Given the description of an element on the screen output the (x, y) to click on. 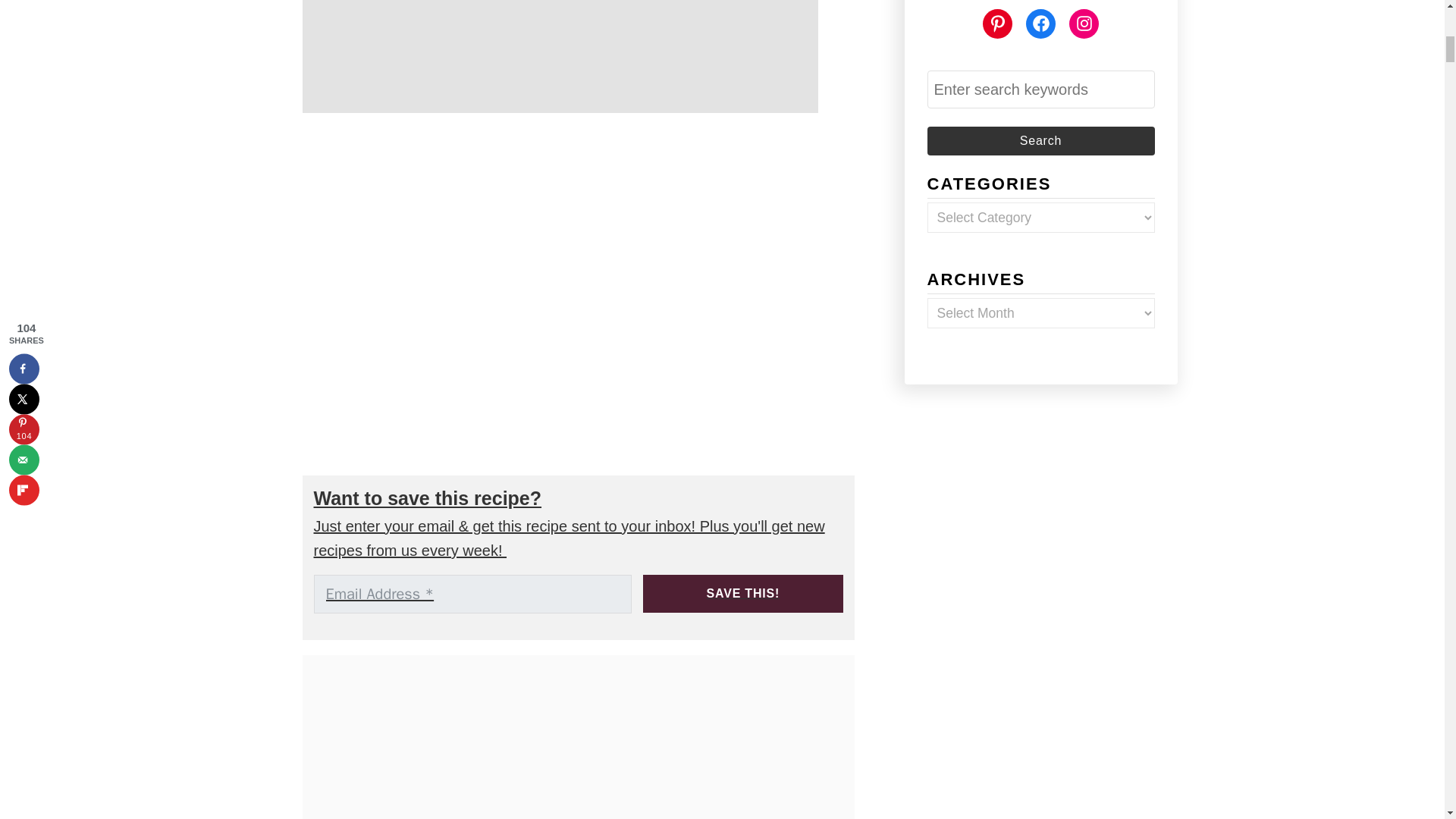
Search for: (1040, 89)
SAVE THIS! (743, 593)
Search (1040, 140)
Search (1040, 140)
